Given the description of an element on the screen output the (x, y) to click on. 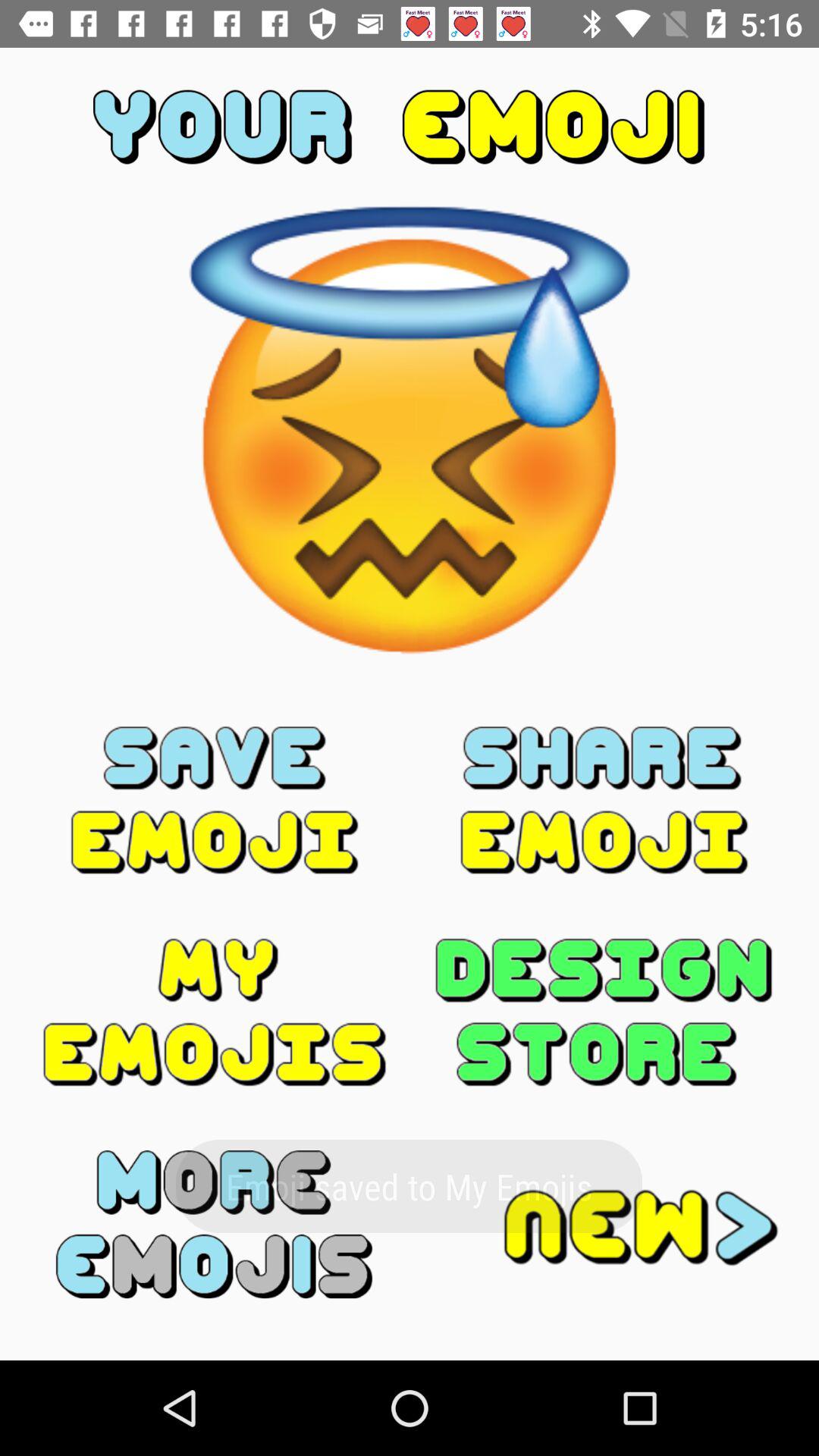
emoji image (214, 1224)
